Given the description of an element on the screen output the (x, y) to click on. 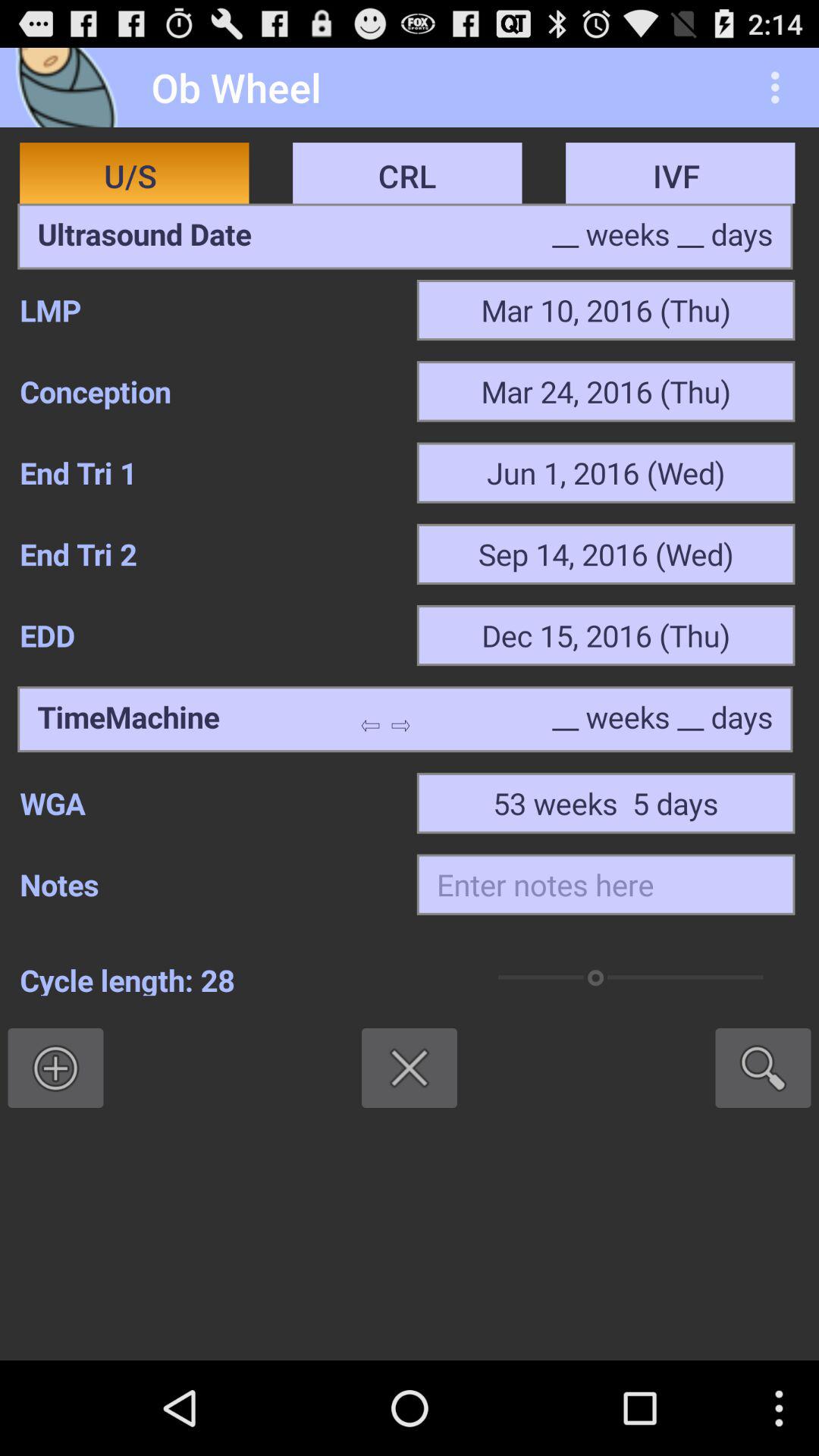
choose the item above the end tri 1 item (208, 391)
